Given the description of an element on the screen output the (x, y) to click on. 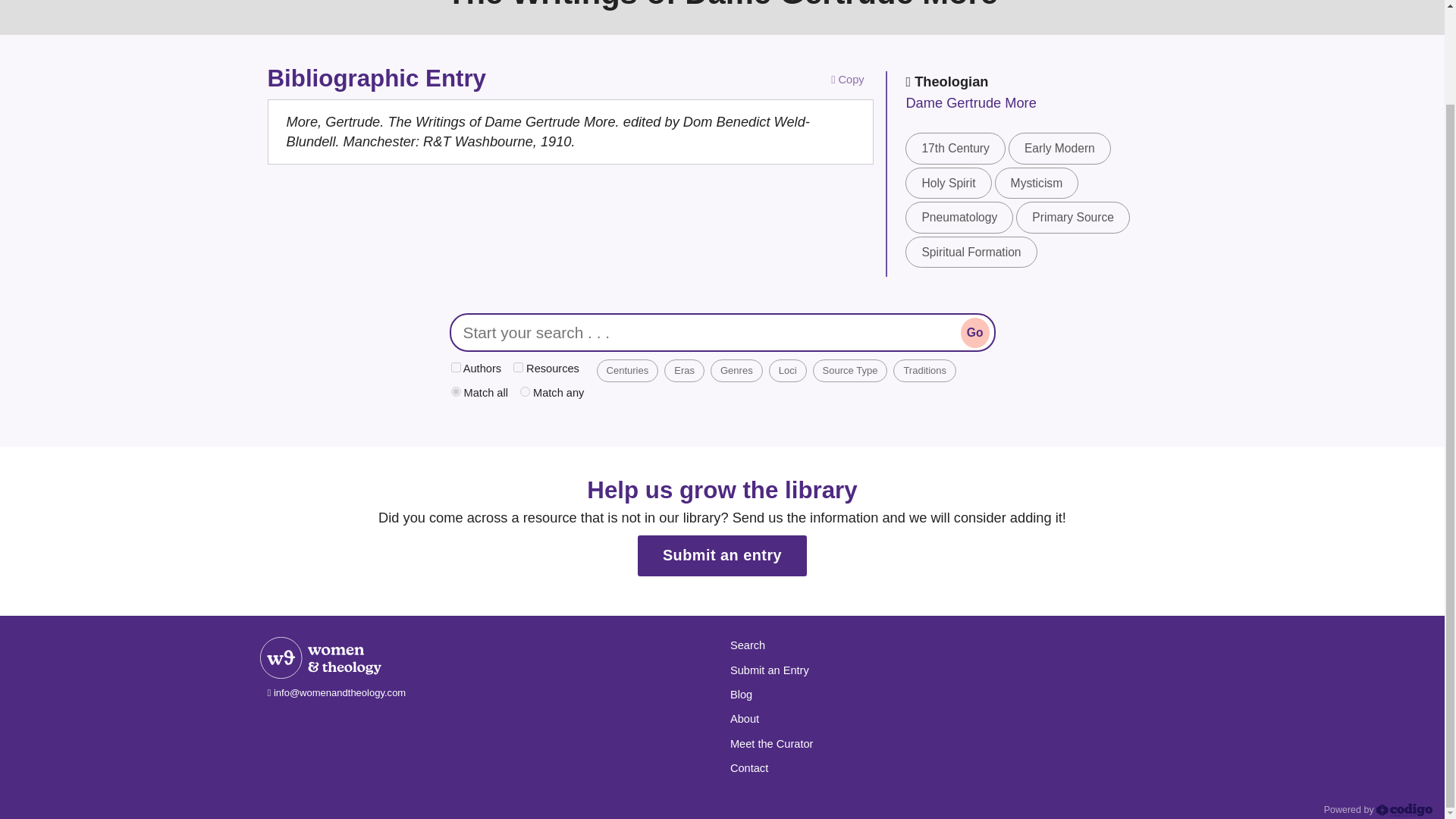
Results matching ANY selected filters (551, 393)
Source Type (850, 370)
Results matching ALL selected filters (477, 393)
Eras (683, 370)
Spiritual Formation (970, 251)
Dame Gertrude More (970, 102)
Primary Source (1072, 216)
Early Modern (1059, 147)
resources (517, 367)
Genres (736, 370)
Traditions (924, 370)
authors (454, 367)
any (524, 391)
Holy Spirit (948, 183)
all (454, 391)
